Given the description of an element on the screen output the (x, y) to click on. 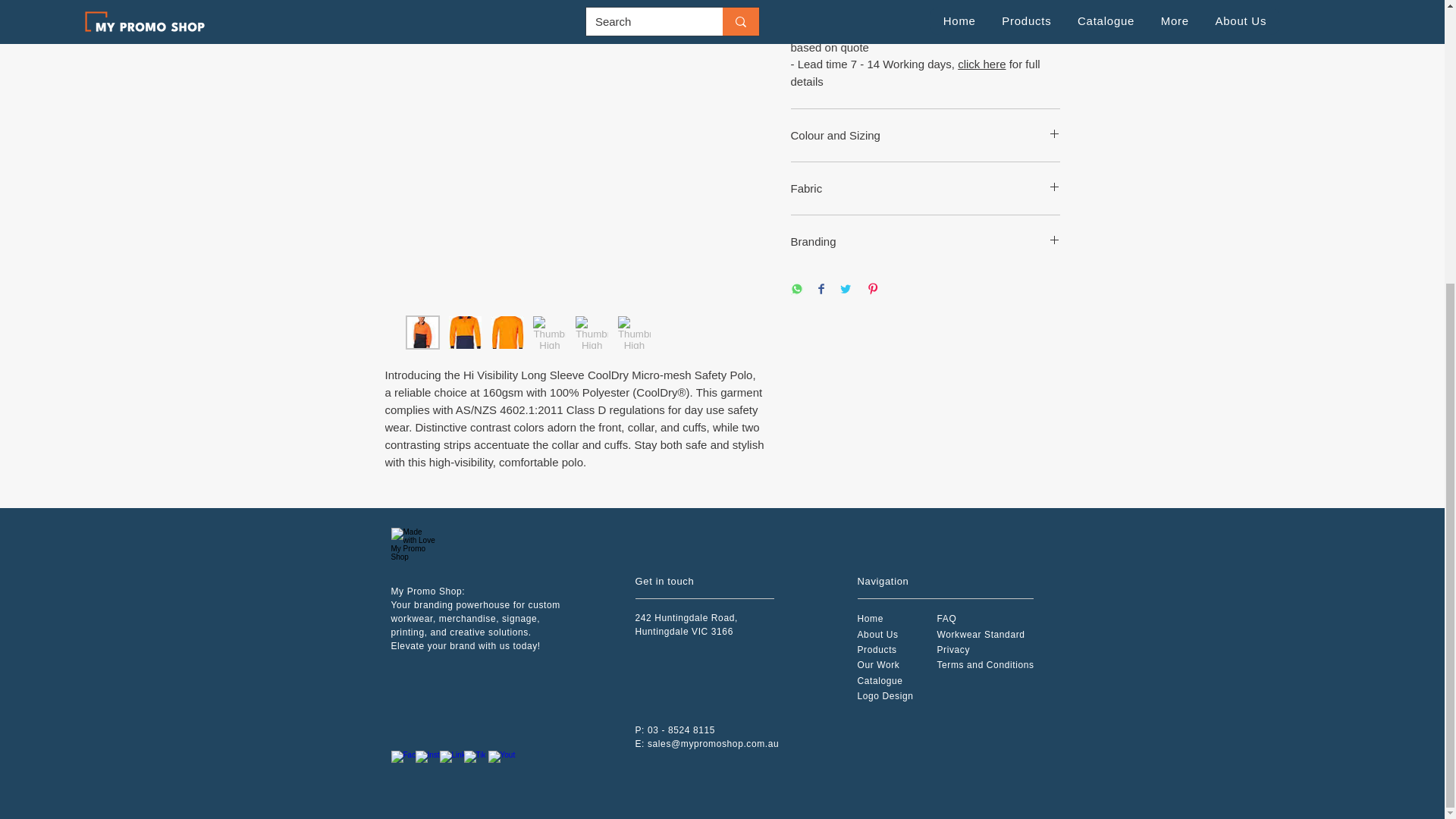
Home (869, 618)
Logo Design (884, 696)
click here (982, 63)
FAQ (946, 618)
Products (876, 649)
Colour and Sizing (924, 135)
Catalogue (879, 680)
242 Huntingdale Road,  Huntingdale VIC 3166 (687, 624)
About Us (877, 634)
Fabric (924, 188)
